Given the description of an element on the screen output the (x, y) to click on. 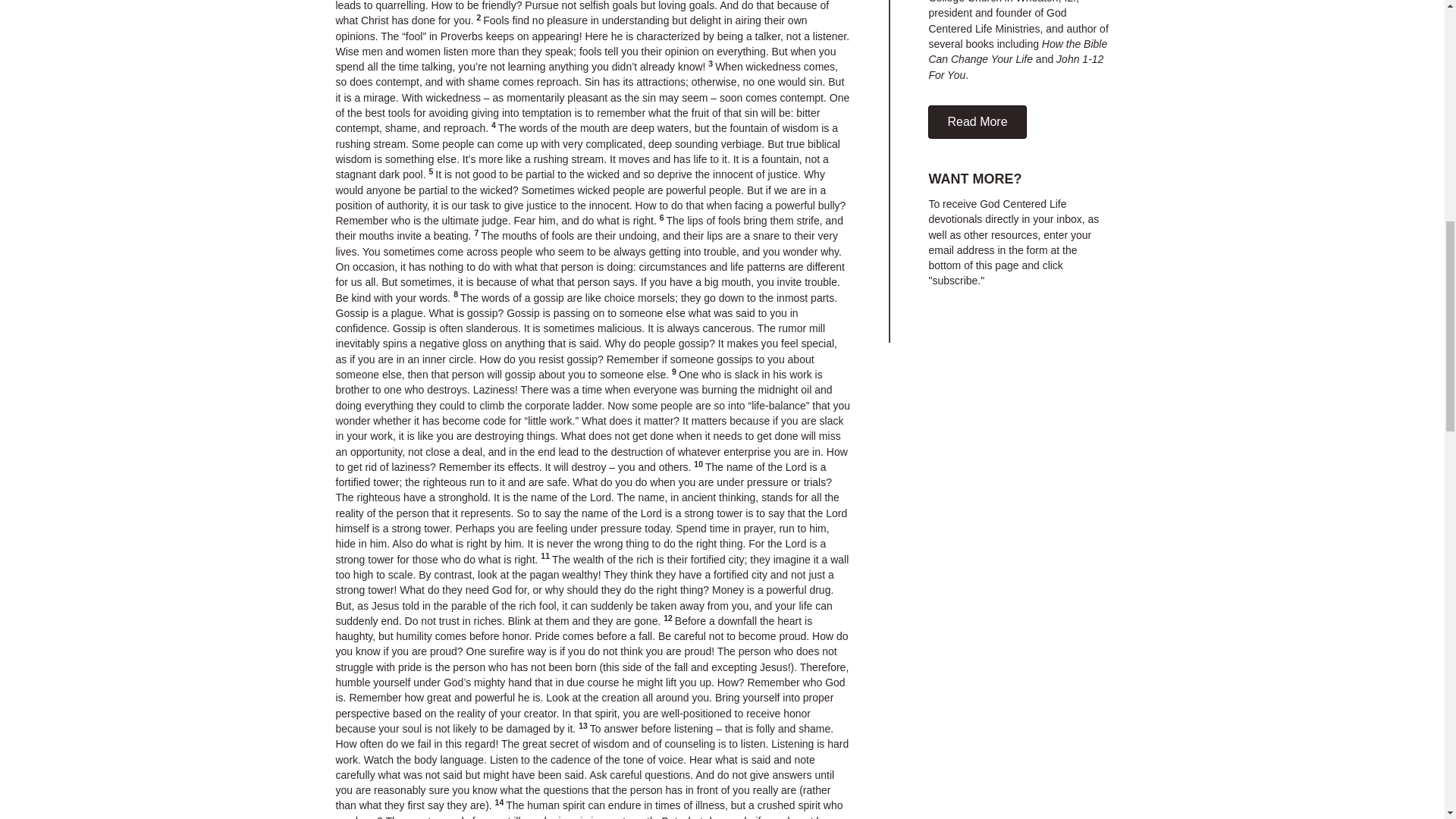
Read More (977, 121)
